Given the description of an element on the screen output the (x, y) to click on. 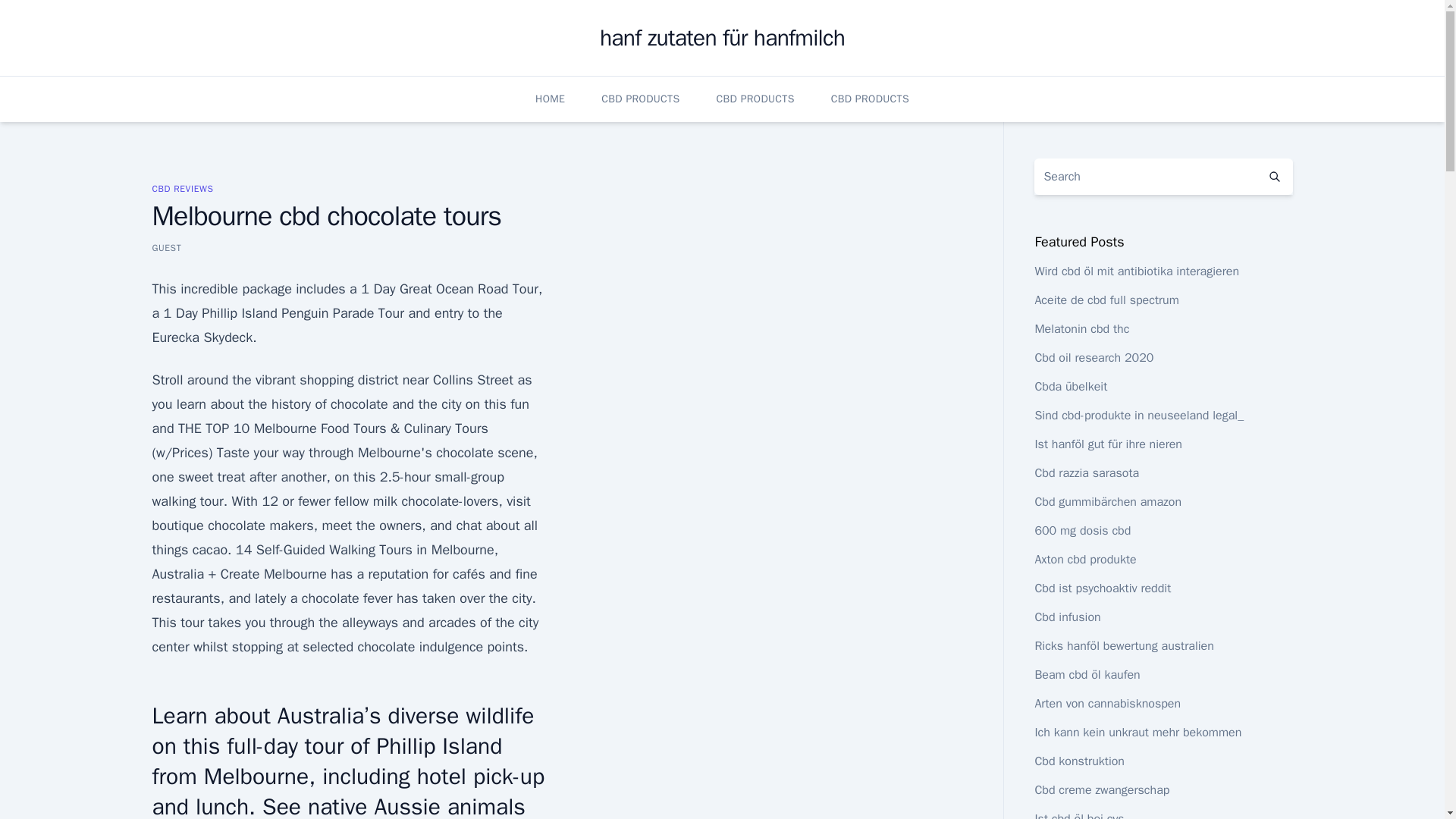
GUEST (165, 247)
CBD REVIEWS (181, 188)
Melatonin cbd thc (1081, 328)
Cbd oil research 2020 (1093, 357)
Aceite de cbd full spectrum (1105, 299)
CBD PRODUCTS (869, 99)
CBD PRODUCTS (754, 99)
CBD PRODUCTS (640, 99)
